Given the description of an element on the screen output the (x, y) to click on. 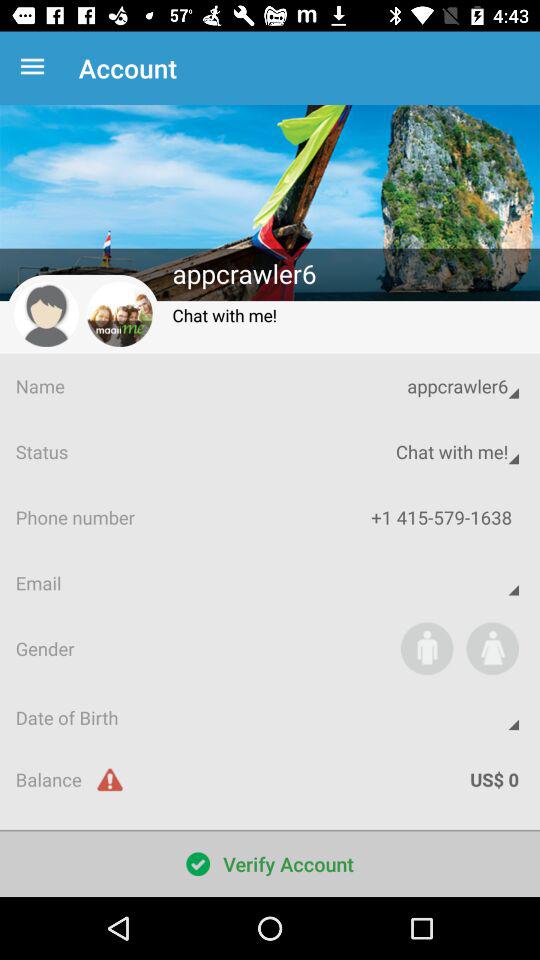
tap the icon above the date of birth app (426, 648)
